Given the description of an element on the screen output the (x, y) to click on. 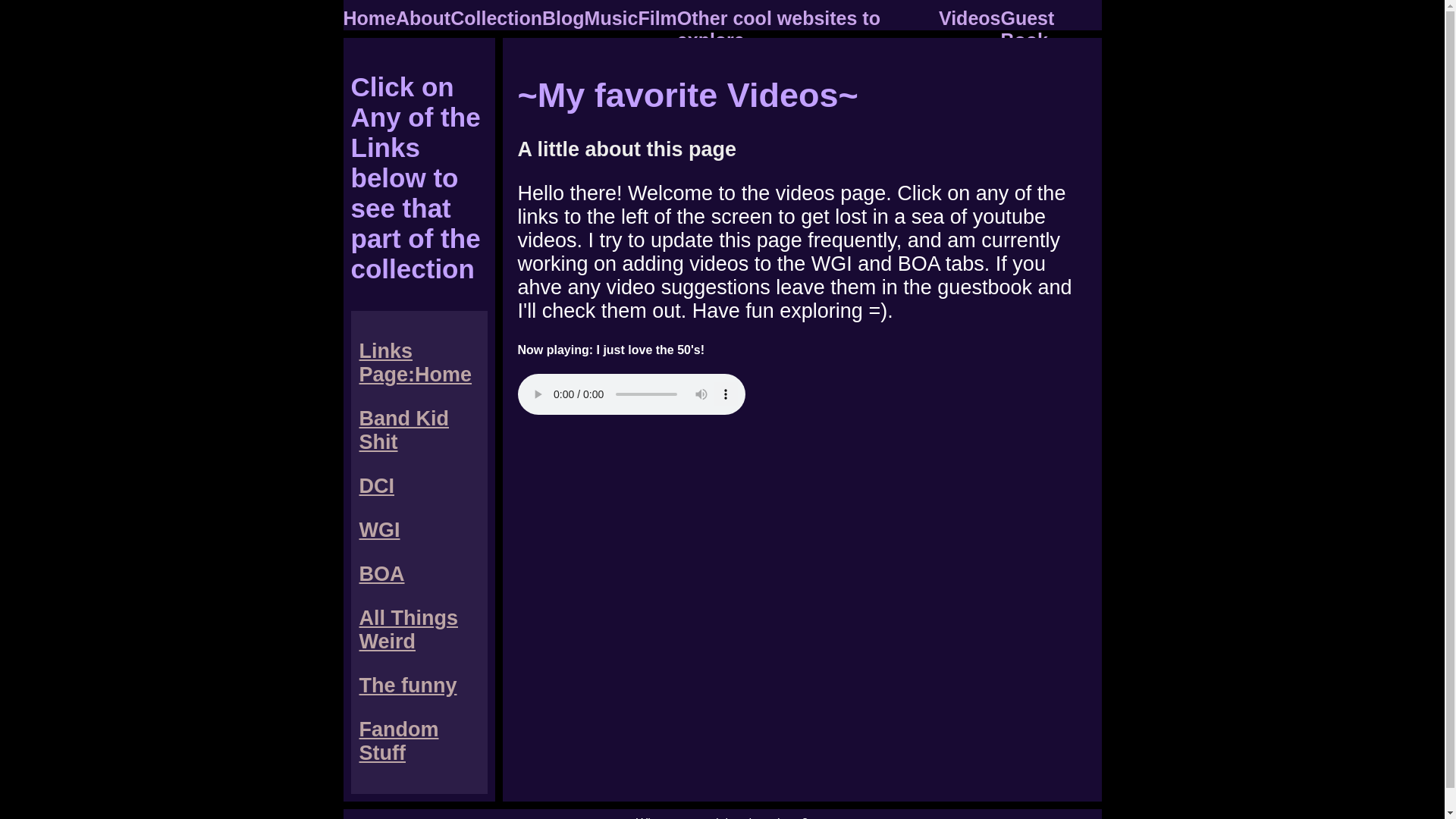
About (422, 17)
Film (657, 17)
The funny (408, 685)
BOA (381, 573)
Other cool websites to explore (778, 28)
Blog (563, 17)
DCI (376, 486)
Guest Book (1027, 28)
Videos (970, 17)
Home (368, 17)
Band Kid Shit (404, 430)
Fandom Stuff (399, 741)
Links Page:Home (415, 362)
WGI (379, 529)
Music (612, 17)
